Given the description of an element on the screen output the (x, y) to click on. 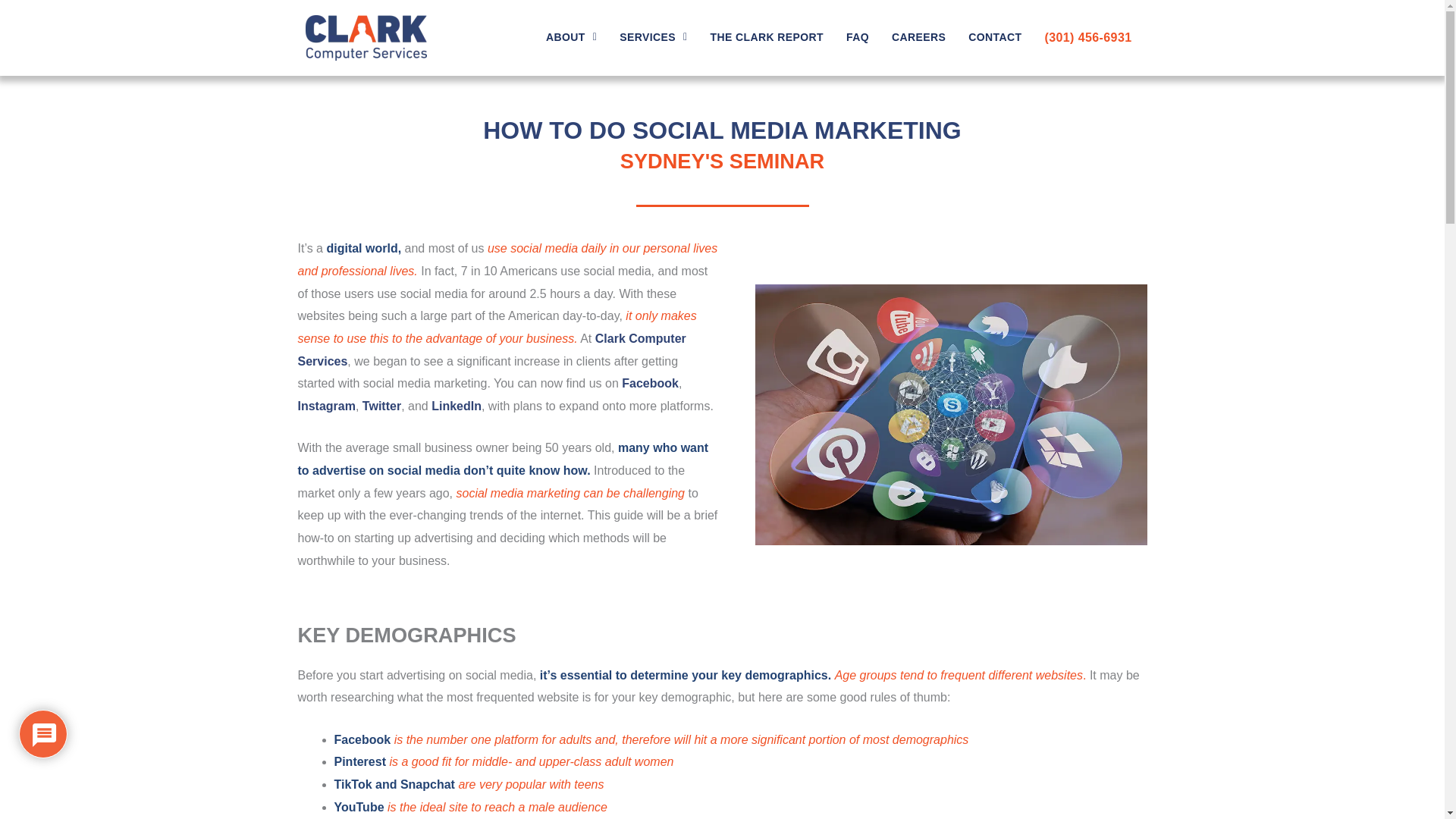
CAREERS (918, 36)
CONTACT (994, 36)
SERVICES (652, 36)
ABOUT (571, 36)
FAQ (857, 36)
THE CLARK REPORT (766, 36)
